Given the description of an element on the screen output the (x, y) to click on. 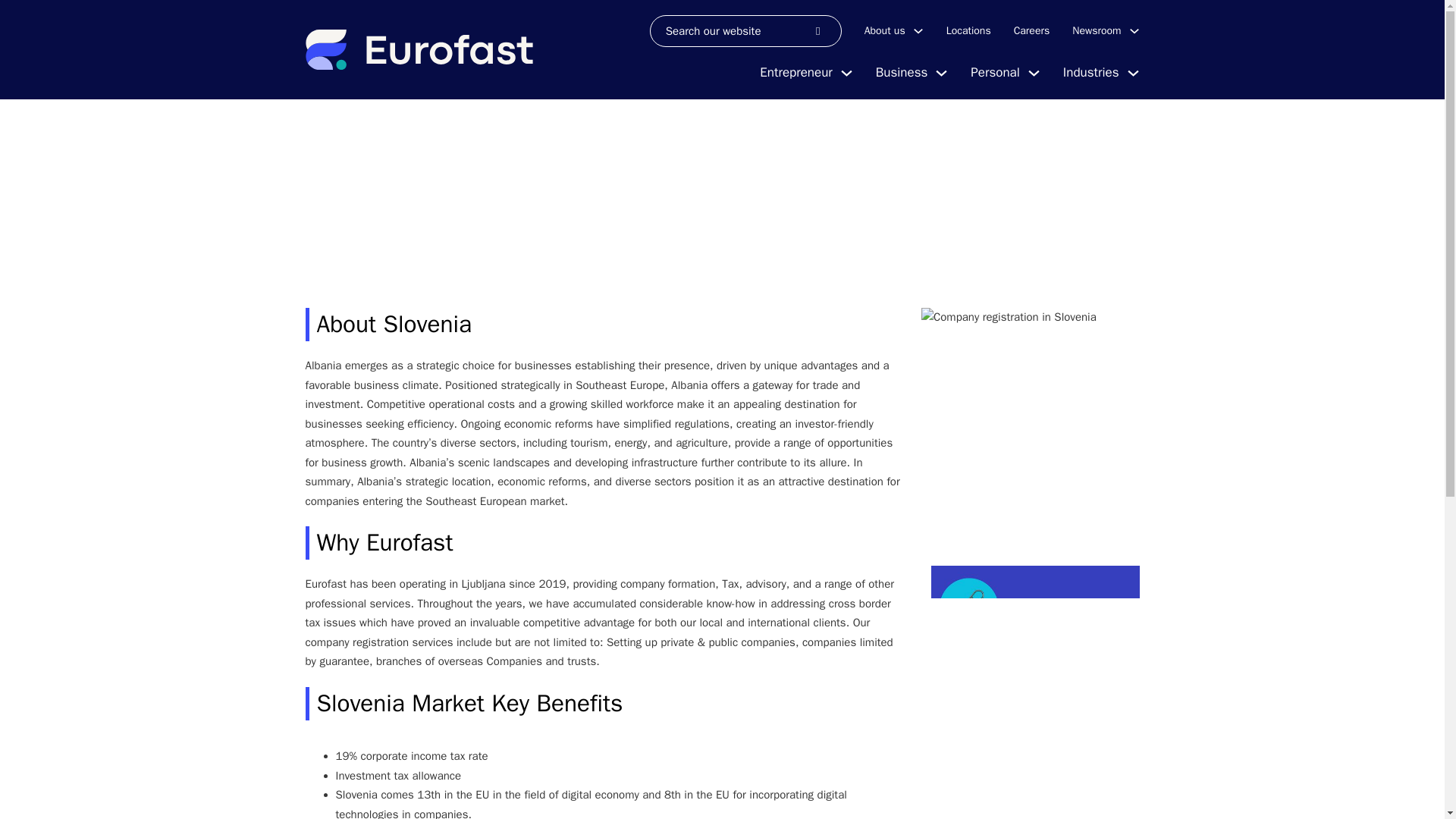
Entrepreneur (795, 73)
About us (884, 31)
Newsroom (1096, 31)
Careers (1031, 31)
Locations (968, 31)
